Given the description of an element on the screen output the (x, y) to click on. 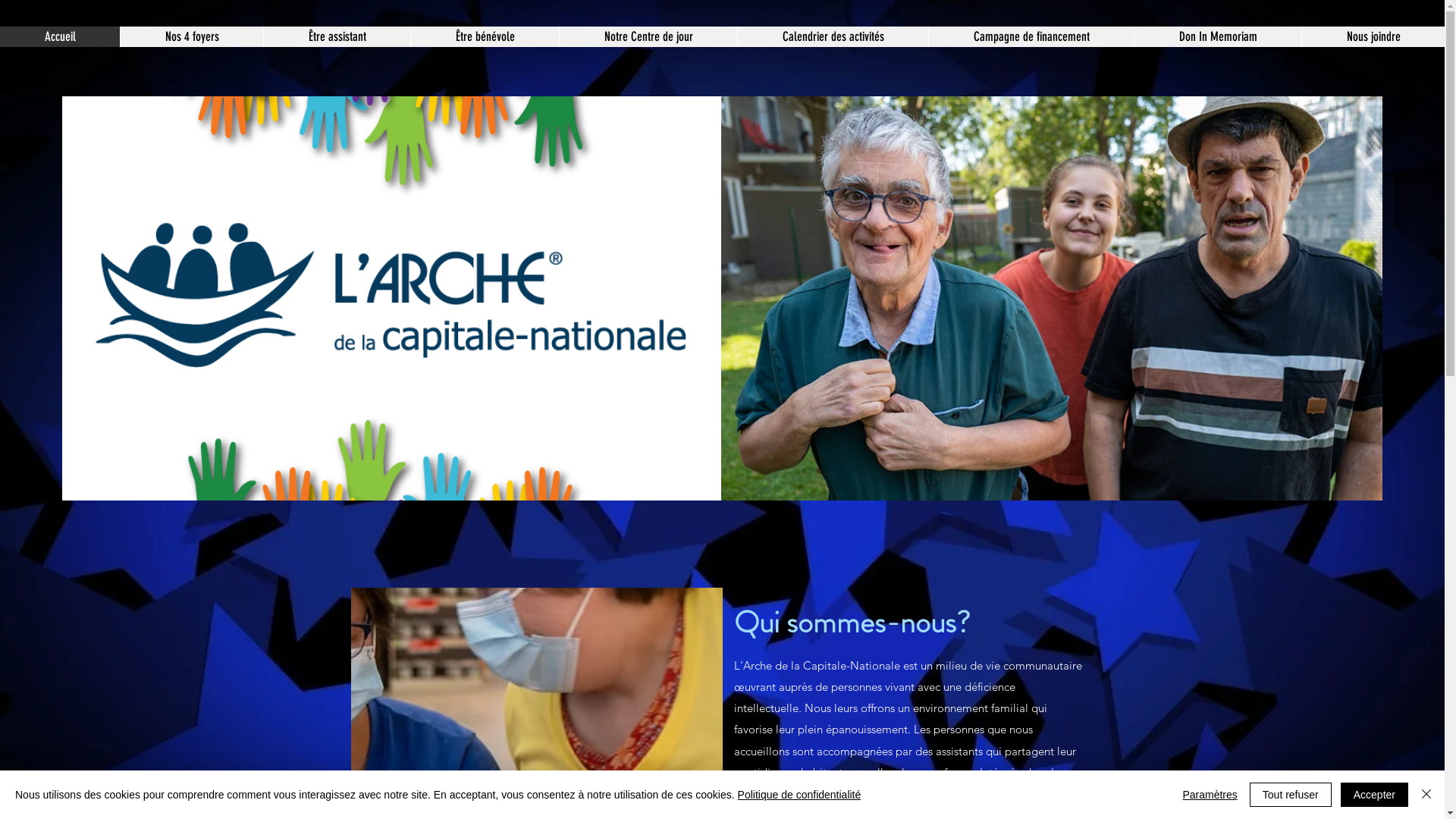
Don In Memoriam Element type: text (1217, 36)
Campagne de financement Element type: text (1030, 36)
Accueil Element type: text (59, 36)
Nos 4 foyers Element type: text (191, 36)
Accepter Element type: text (1374, 794)
Nous joindre Element type: text (1372, 36)
Tout refuser Element type: text (1290, 794)
Notre Centre de jour Element type: text (647, 36)
